Given the description of an element on the screen output the (x, y) to click on. 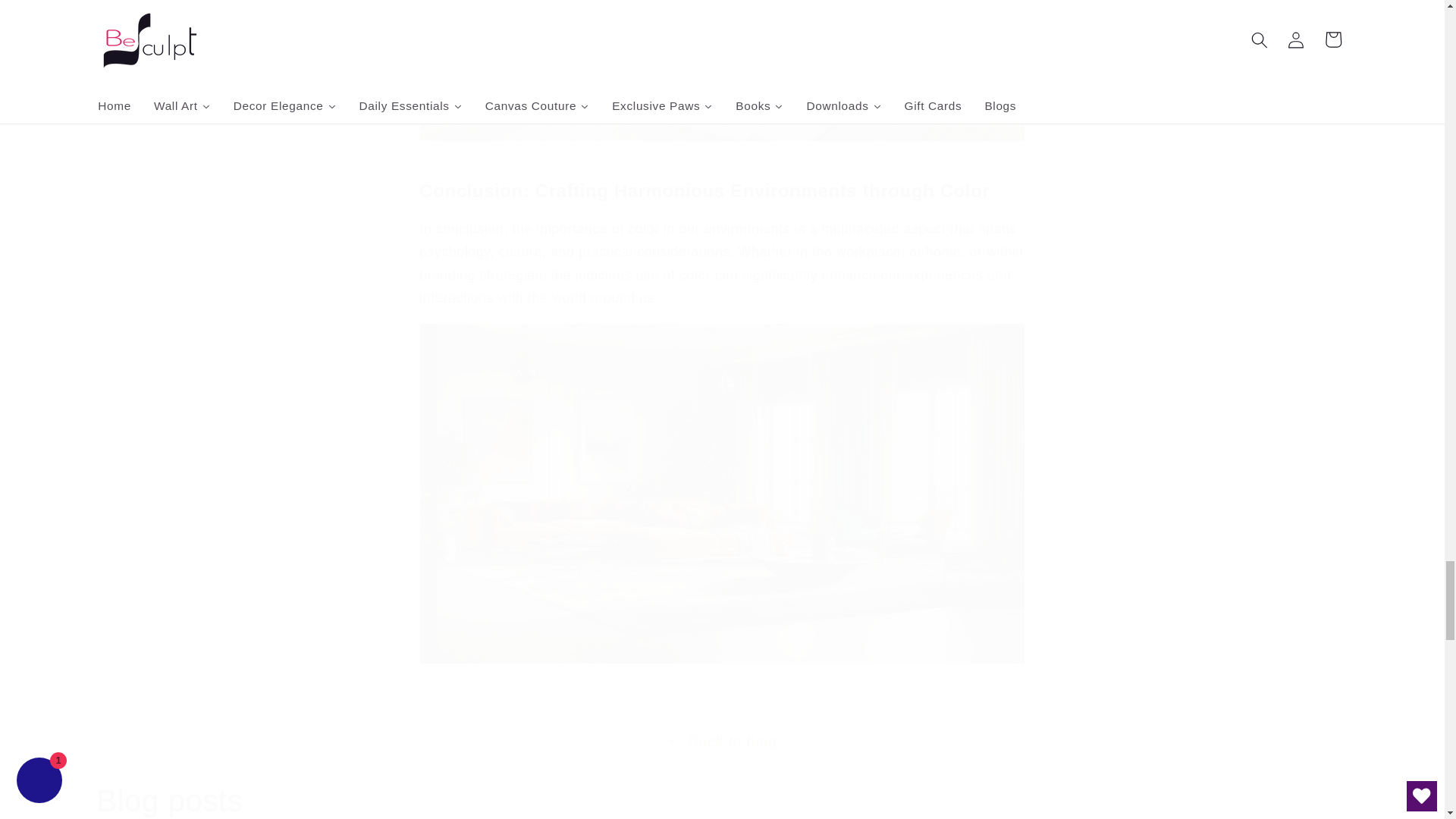
Blog posts (170, 800)
